Given the description of an element on the screen output the (x, y) to click on. 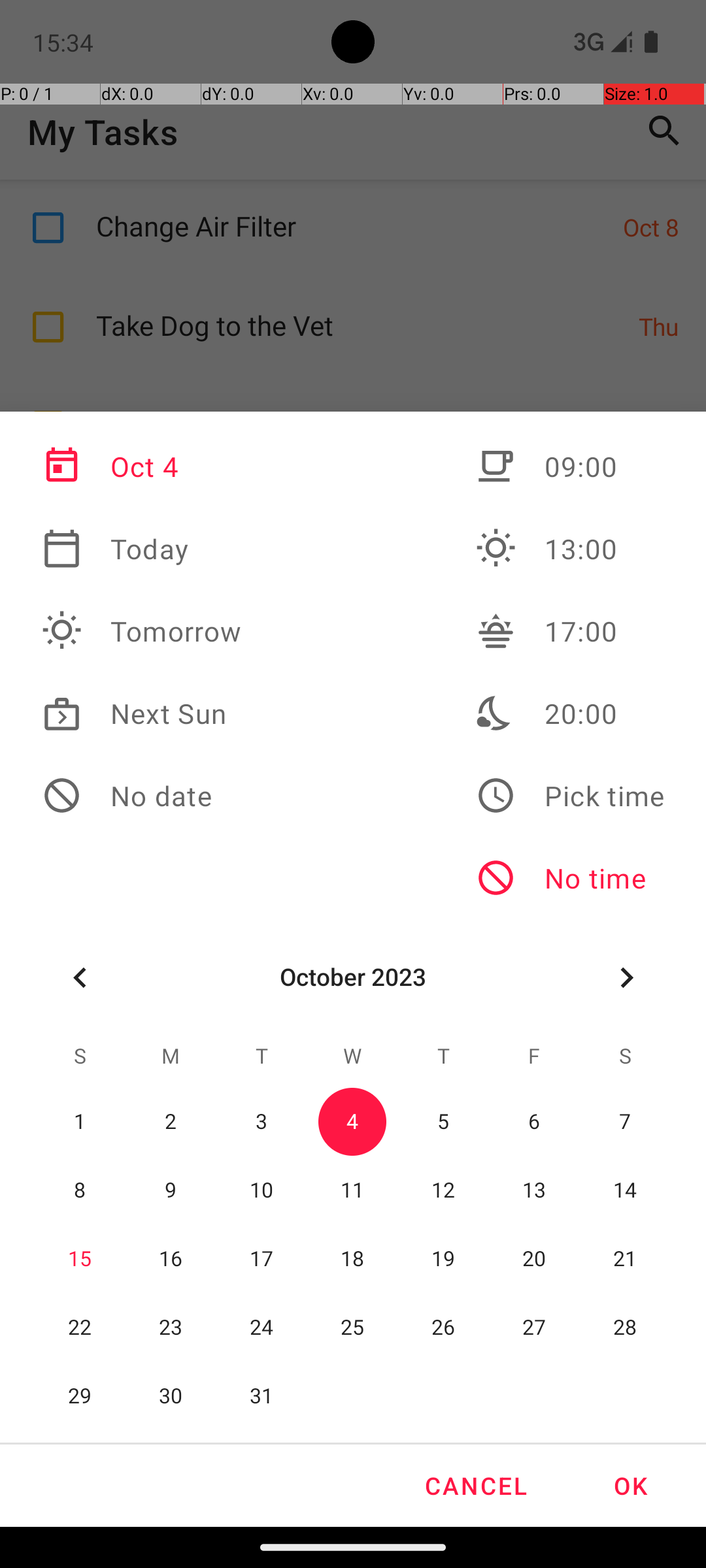
Oct 4 Element type: android.widget.CompoundButton (141, 466)
